Given the description of an element on the screen output the (x, y) to click on. 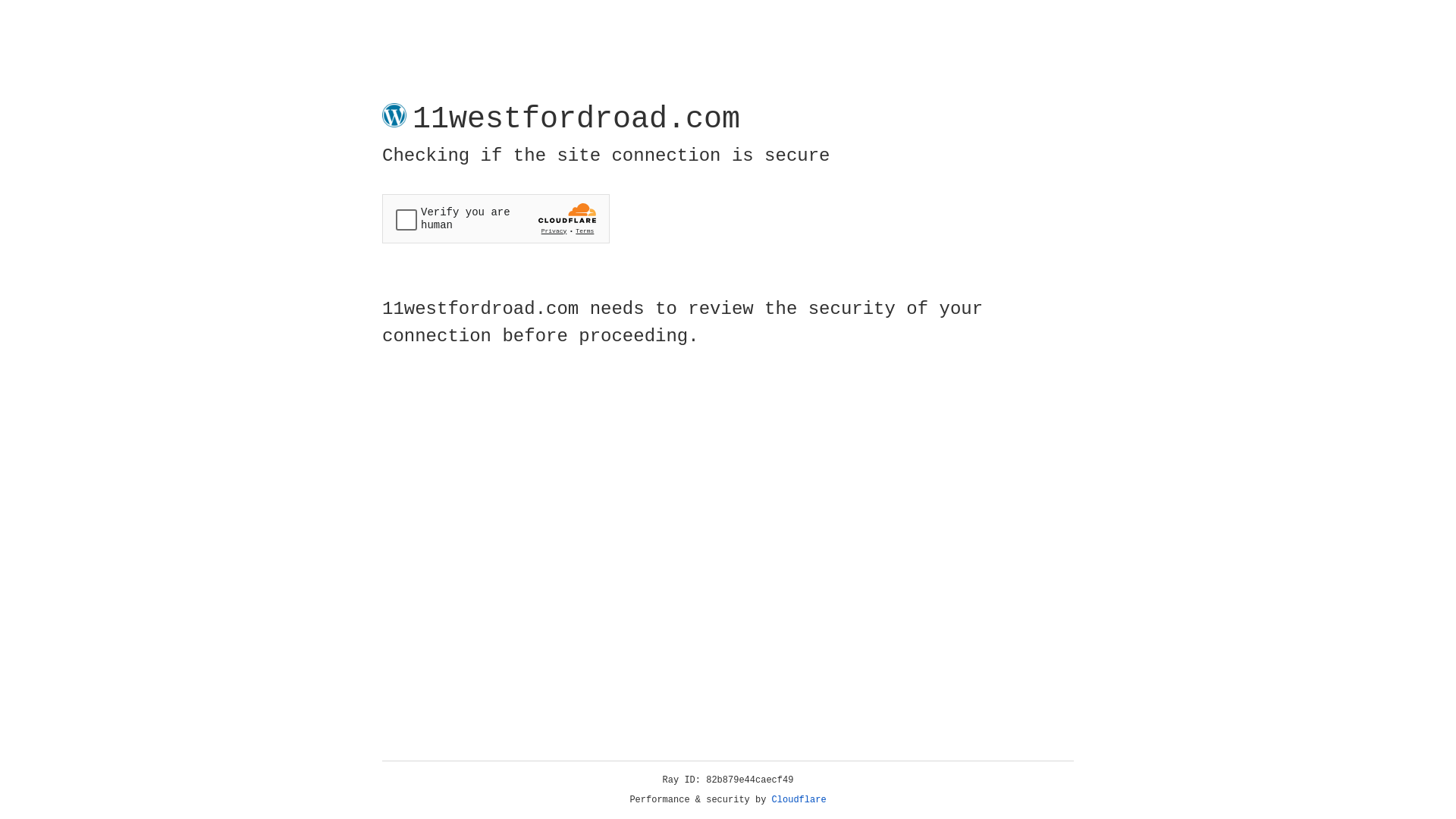
Widget containing a Cloudflare security challenge Element type: hover (495, 218)
Cloudflare Element type: text (798, 799)
